Given the description of an element on the screen output the (x, y) to click on. 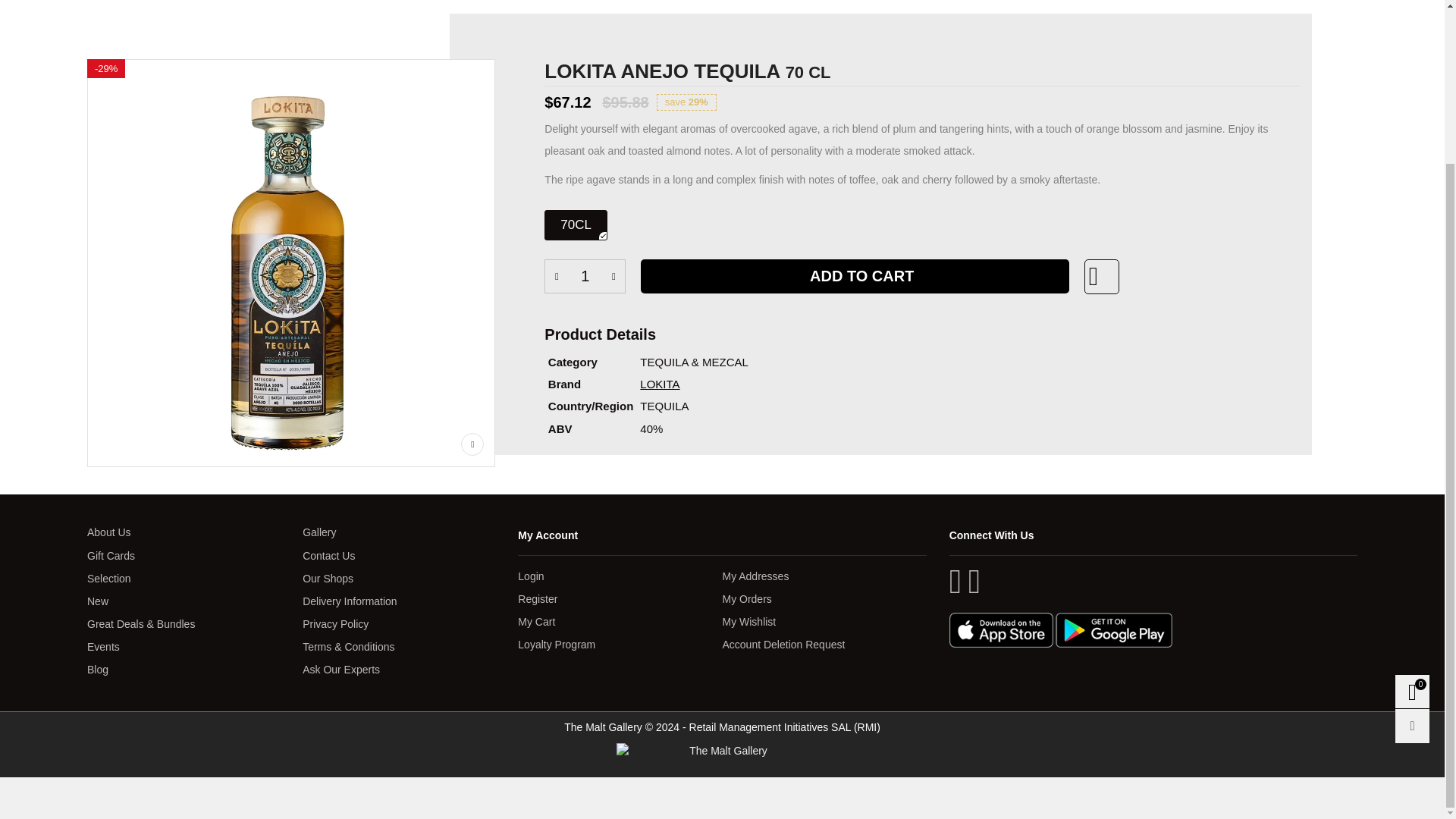
1 (584, 276)
Sign In (1209, 121)
